Given the description of an element on the screen output the (x, y) to click on. 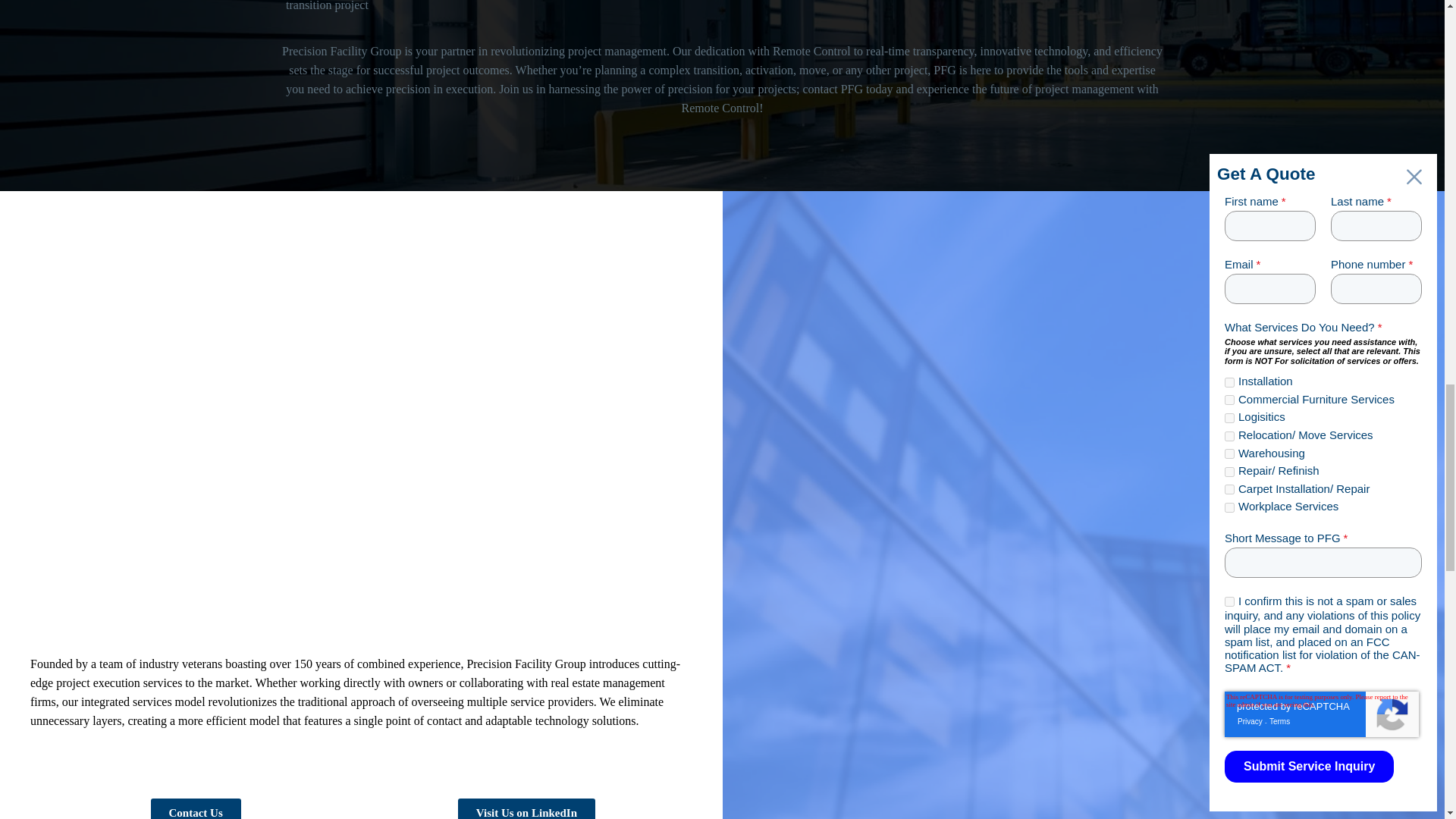
Contact Us (194, 808)
Visit Us on LinkedIn (526, 808)
